Given the description of an element on the screen output the (x, y) to click on. 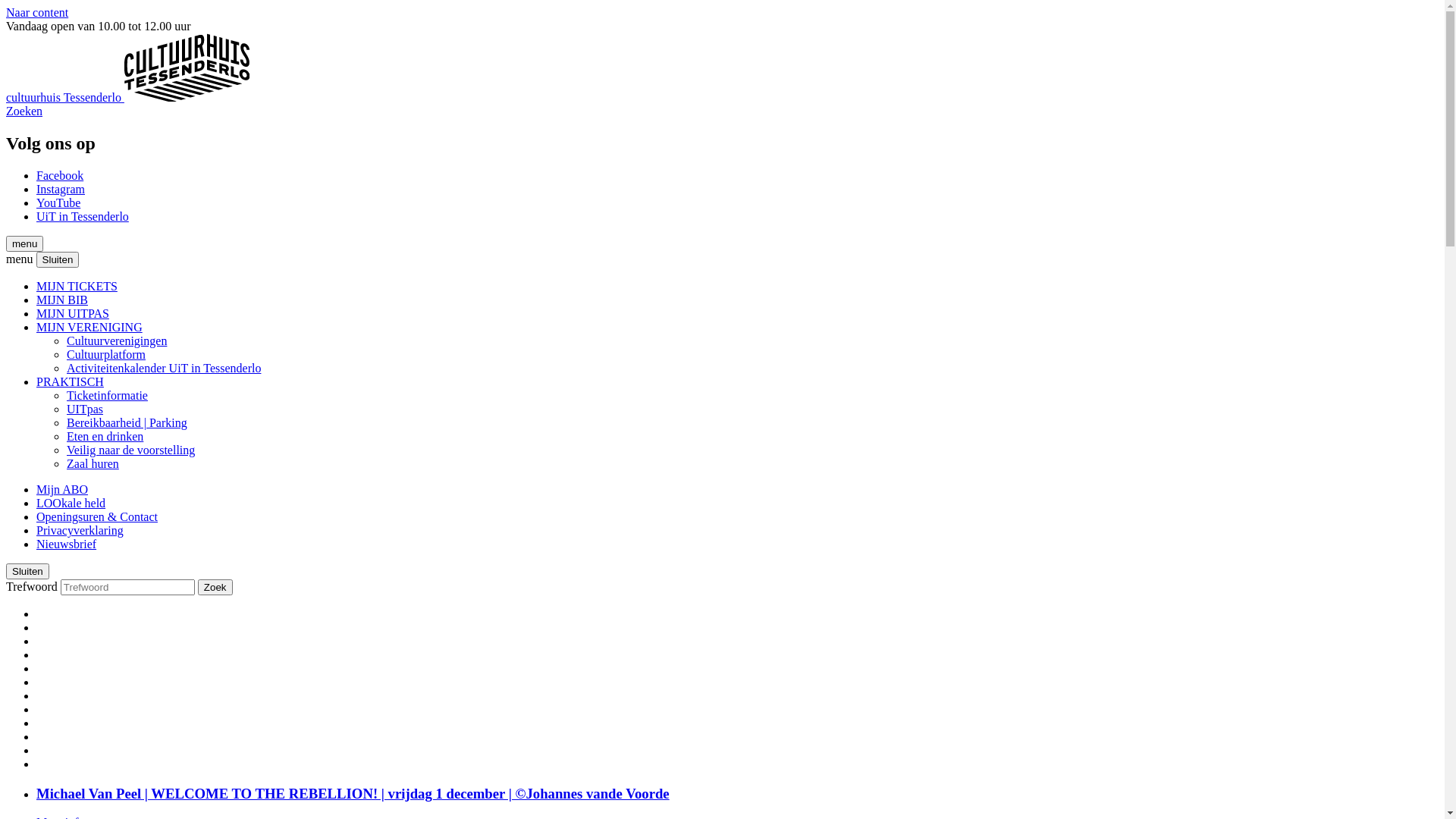
Veilig naar de voorstelling Element type: text (130, 449)
Sluiten Element type: text (57, 259)
Sluiten Element type: text (27, 571)
Zoek Element type: text (214, 587)
Mijn ABO Element type: text (61, 489)
PRAKTISCH Element type: text (69, 381)
Ticketinformatie Element type: text (106, 395)
cultuurhuis Tessenderlo Element type: hover (186, 67)
cultuurhuis Tessenderlo Element type: text (127, 97)
Nieuwsbrief Element type: text (66, 543)
Facebook Element type: text (59, 175)
YouTube Element type: text (58, 202)
Cultuurplatform Element type: text (105, 354)
Activiteitenkalender UiT in Tessenderlo Element type: text (163, 367)
Zoeken Element type: hover (214, 587)
Bereikbaarheid | Parking Element type: text (126, 422)
LOOkale held Element type: text (70, 502)
Naar content Element type: text (37, 12)
MIJN BIB Element type: text (61, 299)
Eten en drinken Element type: text (104, 435)
Openingsuren & Contact Element type: text (96, 516)
MIJN VERENIGING Element type: text (89, 326)
Zoeken Element type: text (24, 110)
MIJN UITPAS Element type: text (72, 313)
Zaal huren Element type: text (92, 463)
UiT in Tessenderlo Element type: text (82, 216)
UITpas Element type: text (84, 408)
Instagram Element type: text (60, 188)
Trefwoord Element type: hover (127, 587)
Cultuurverenigingen Element type: text (116, 340)
MIJN TICKETS Element type: text (76, 285)
Privacyverklaring Element type: text (79, 530)
menu Element type: text (24, 243)
